Given the description of an element on the screen output the (x, y) to click on. 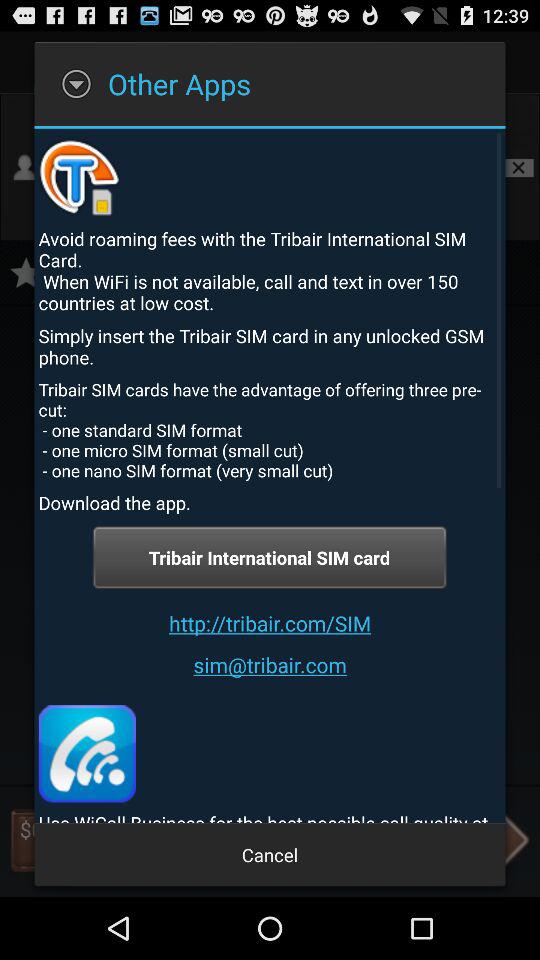
select item above use wicall business app (86, 753)
